Given the description of an element on the screen output the (x, y) to click on. 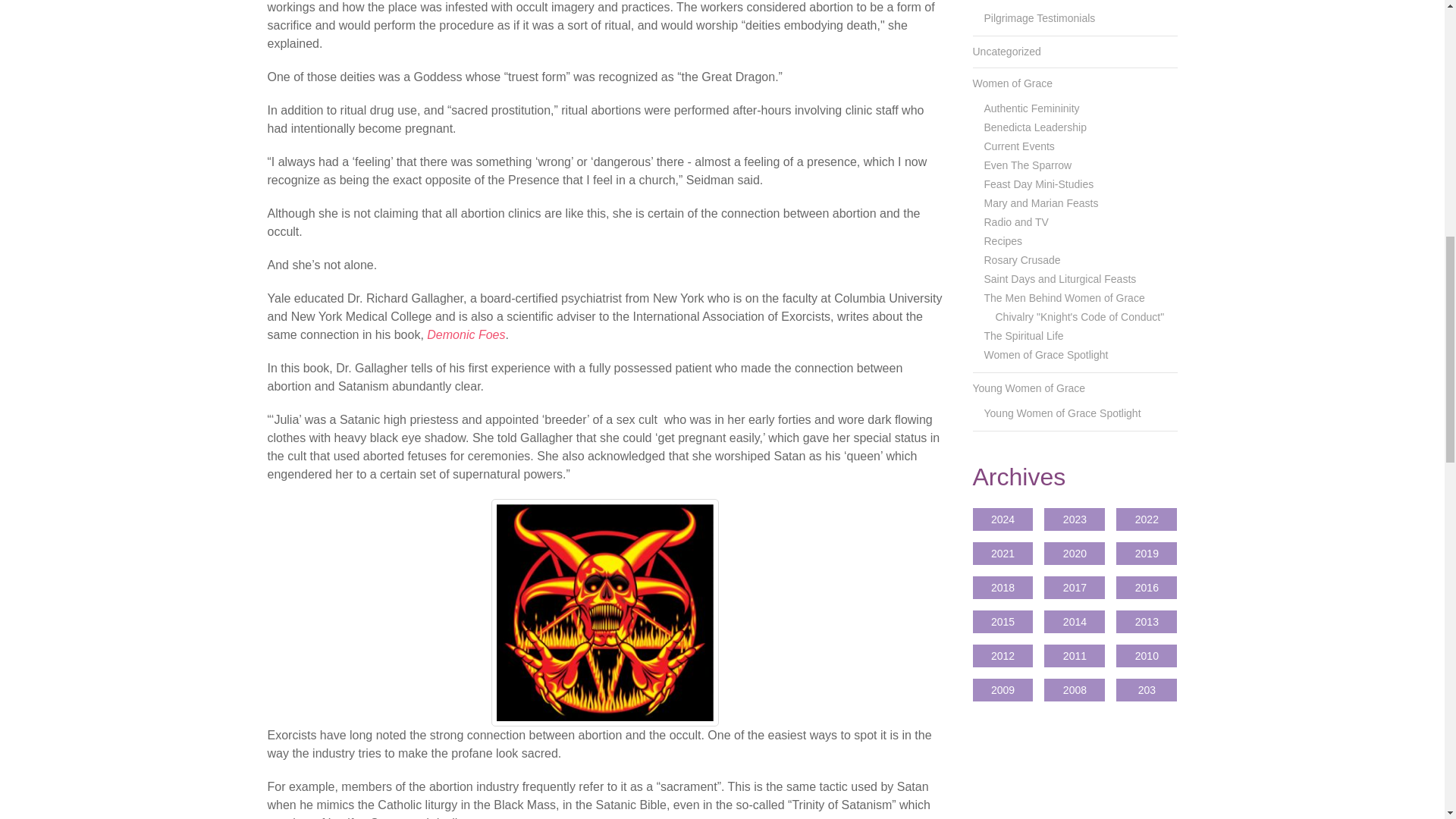
Demonic Foes (465, 334)
